Given the description of an element on the screen output the (x, y) to click on. 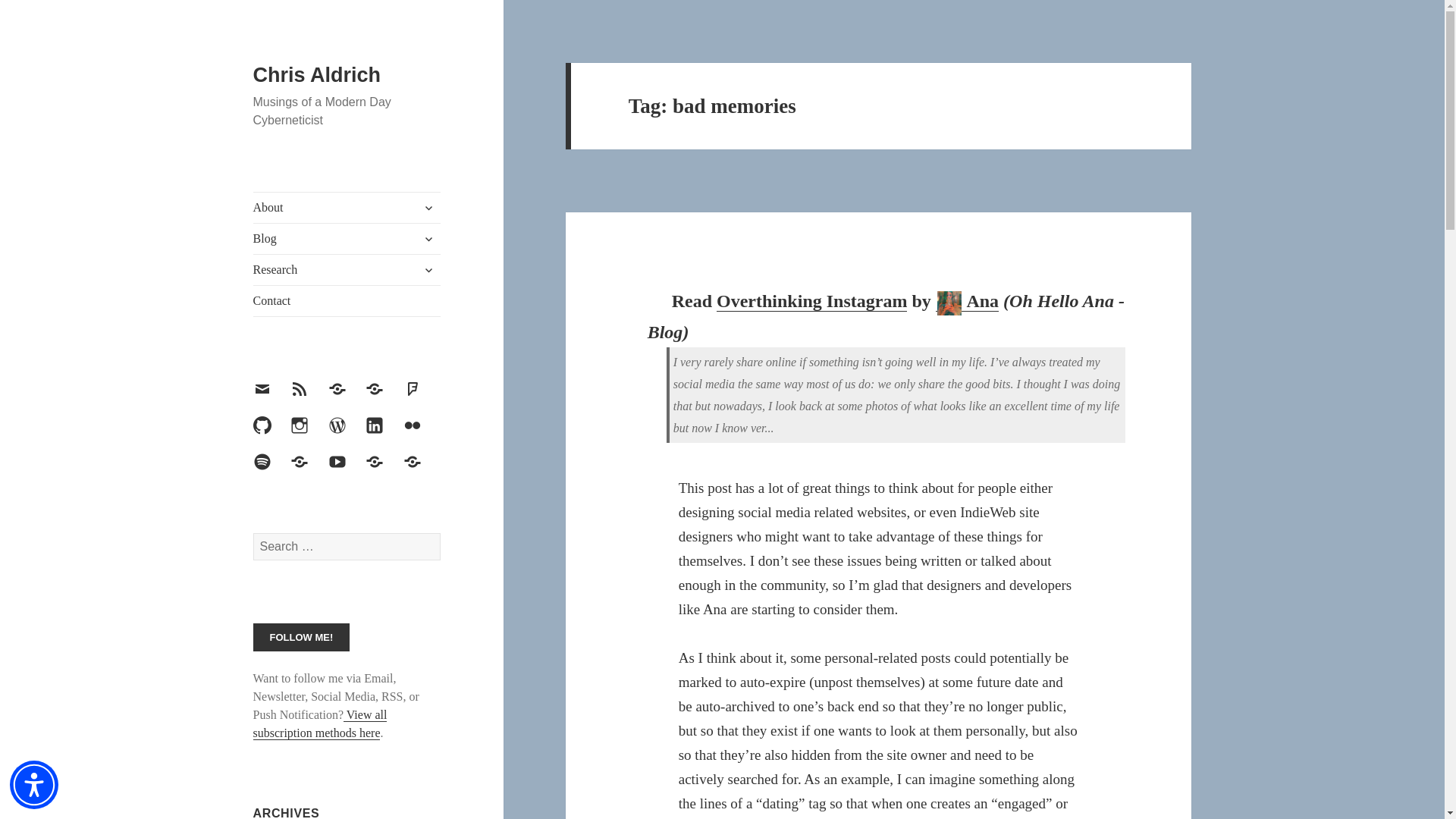
expand child menu (428, 207)
expand child menu (428, 238)
About (347, 207)
Blog (347, 238)
Follow Me! (301, 637)
Chris Aldrich (317, 74)
